Given the description of an element on the screen output the (x, y) to click on. 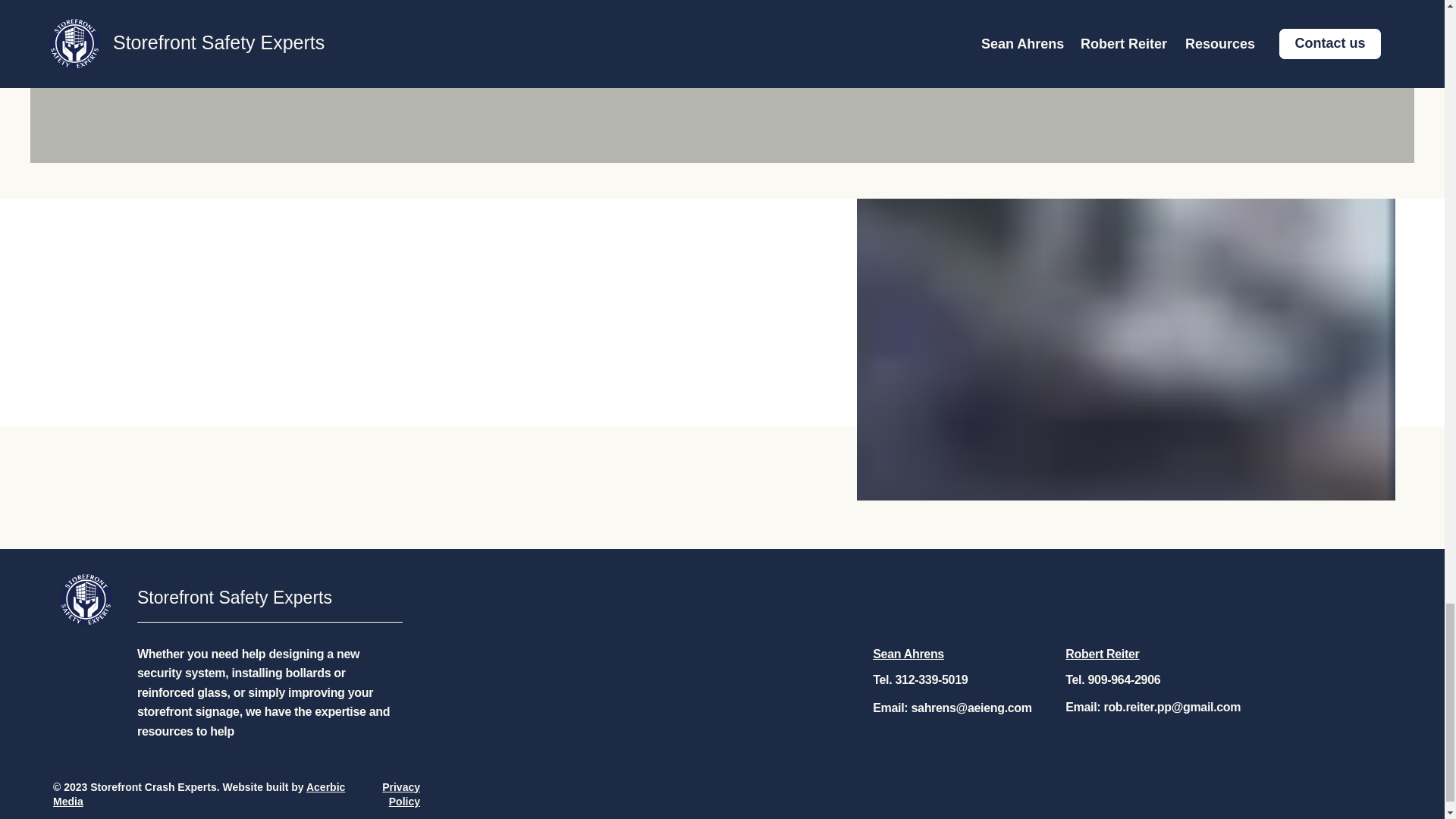
Privacy Policy (400, 794)
909-964-2906 (1123, 679)
Storefront Safety Experts (233, 597)
Sean Ahrens (907, 653)
Robert Reiter (1101, 653)
312-339-5019 (931, 679)
Acerbic Media (198, 794)
